Given the description of an element on the screen output the (x, y) to click on. 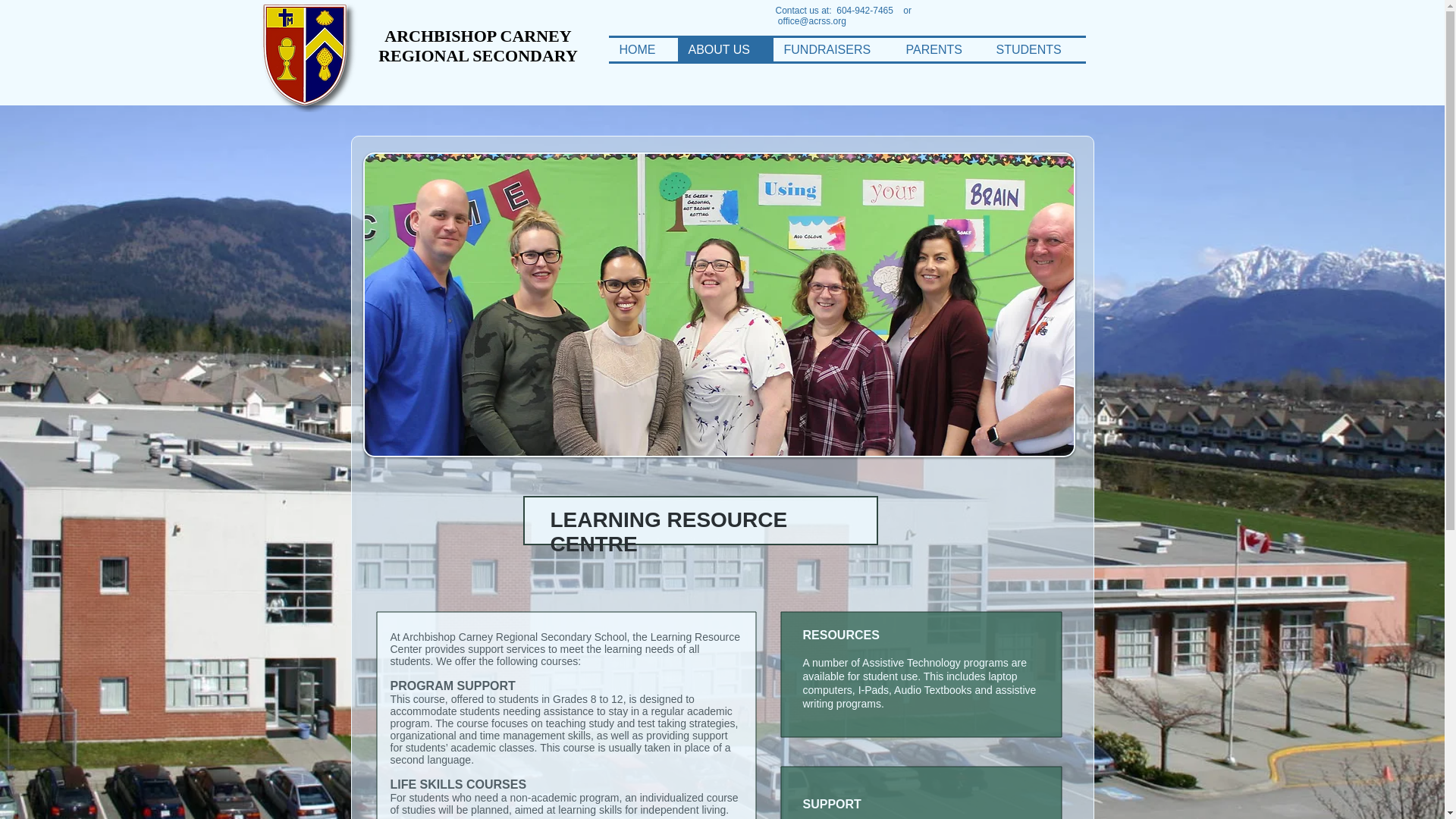
STUDENTS (1035, 49)
ARCHBISHOP CARNEY REGIONAL SECONDARY (478, 45)
PARENTS (940, 49)
ABOUT US (725, 49)
HOME (642, 49)
